Given the description of an element on the screen output the (x, y) to click on. 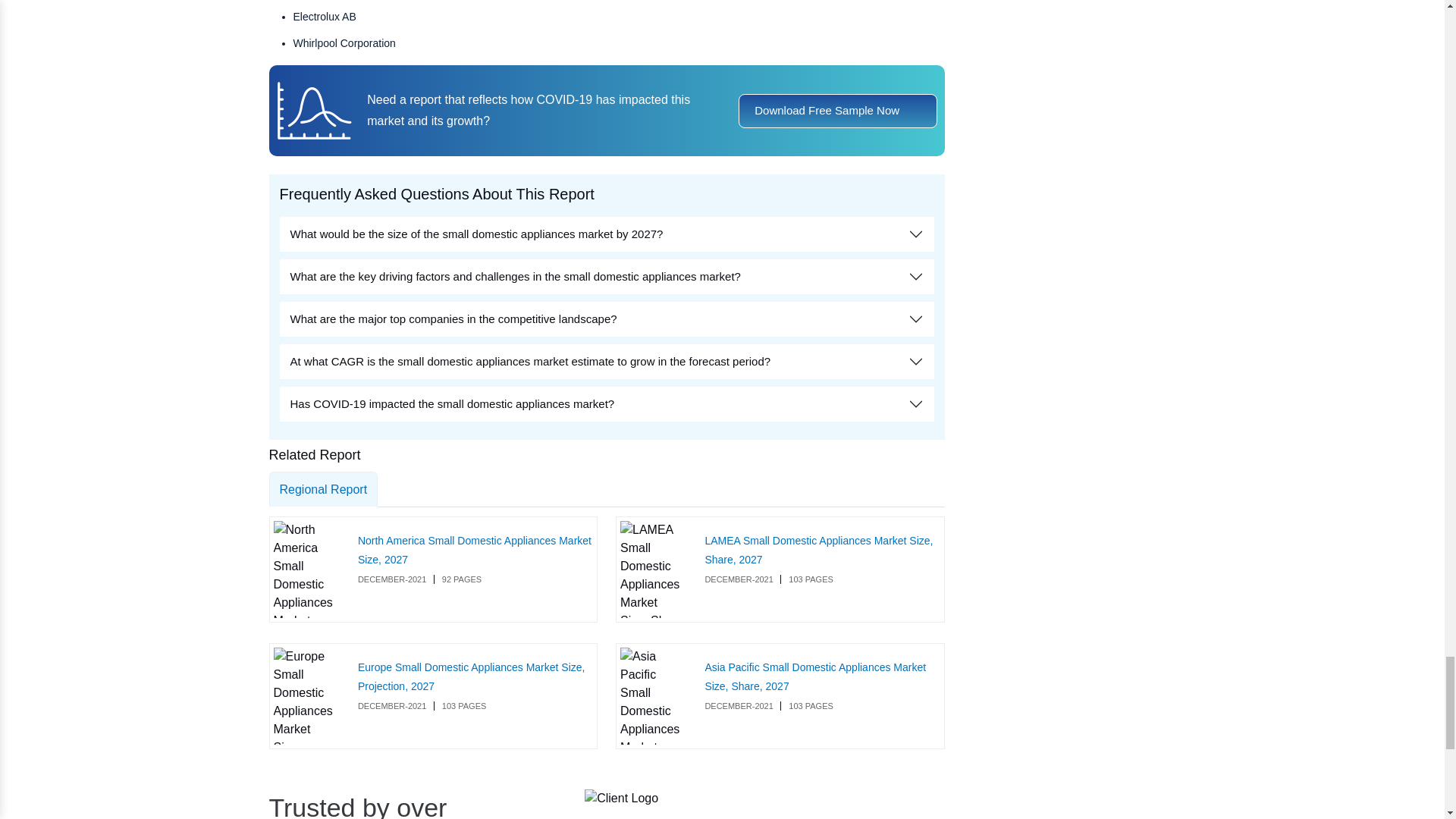
LAMEA Small Domestic Appliances Market Size, Share, 2027 (818, 549)
LAMEA Small Domestic Appliances Market Size, Share, 2027 (652, 569)
North America Small Domestic Appliances Market Size, 2027 (306, 569)
North America Small Domestic Appliances Market Size, 2027 (474, 549)
Client Logo (621, 798)
